Given the description of an element on the screen output the (x, y) to click on. 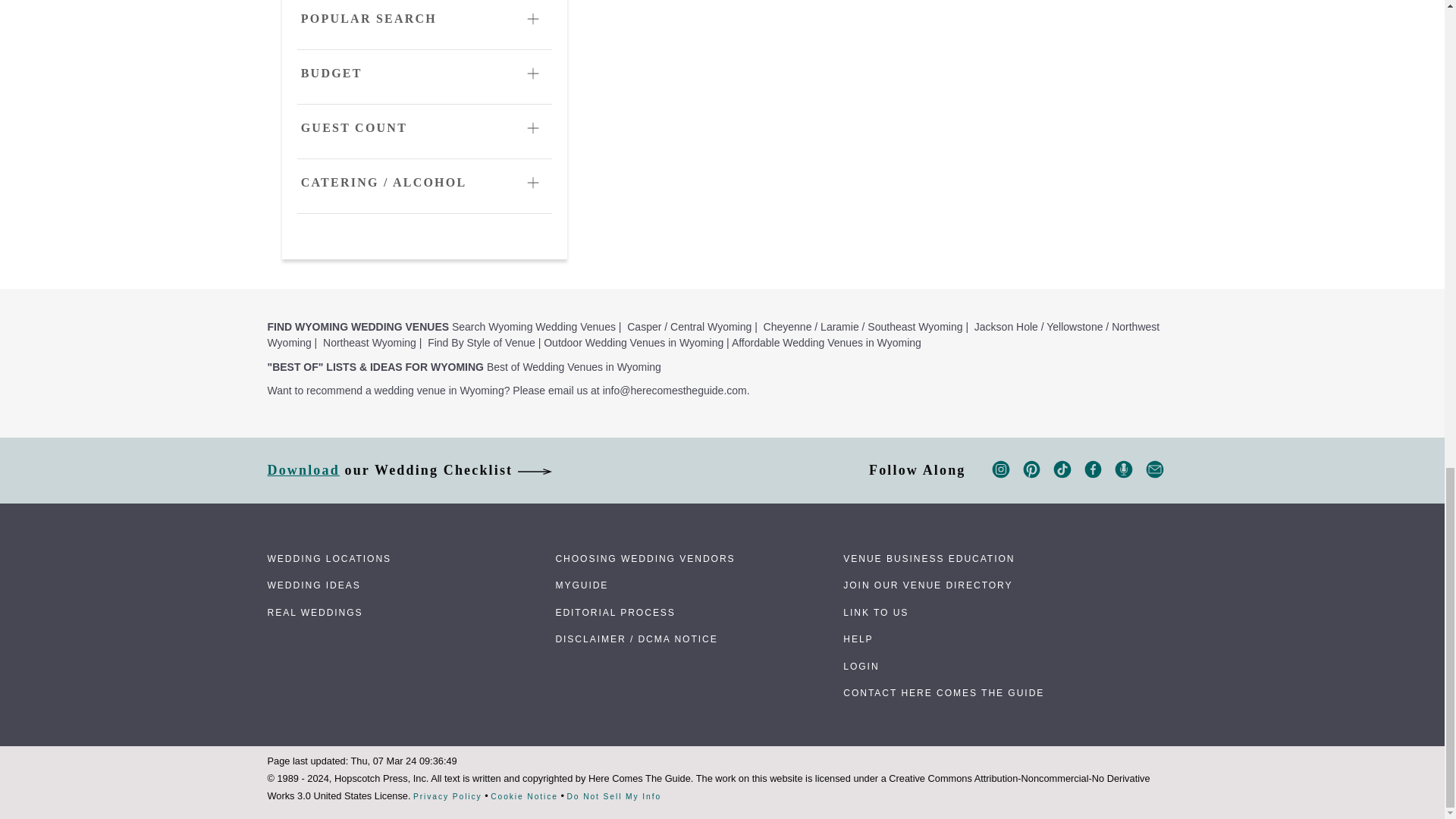
Search Wyoming Wedding Venues (533, 326)
